Given the description of an element on the screen output the (x, y) to click on. 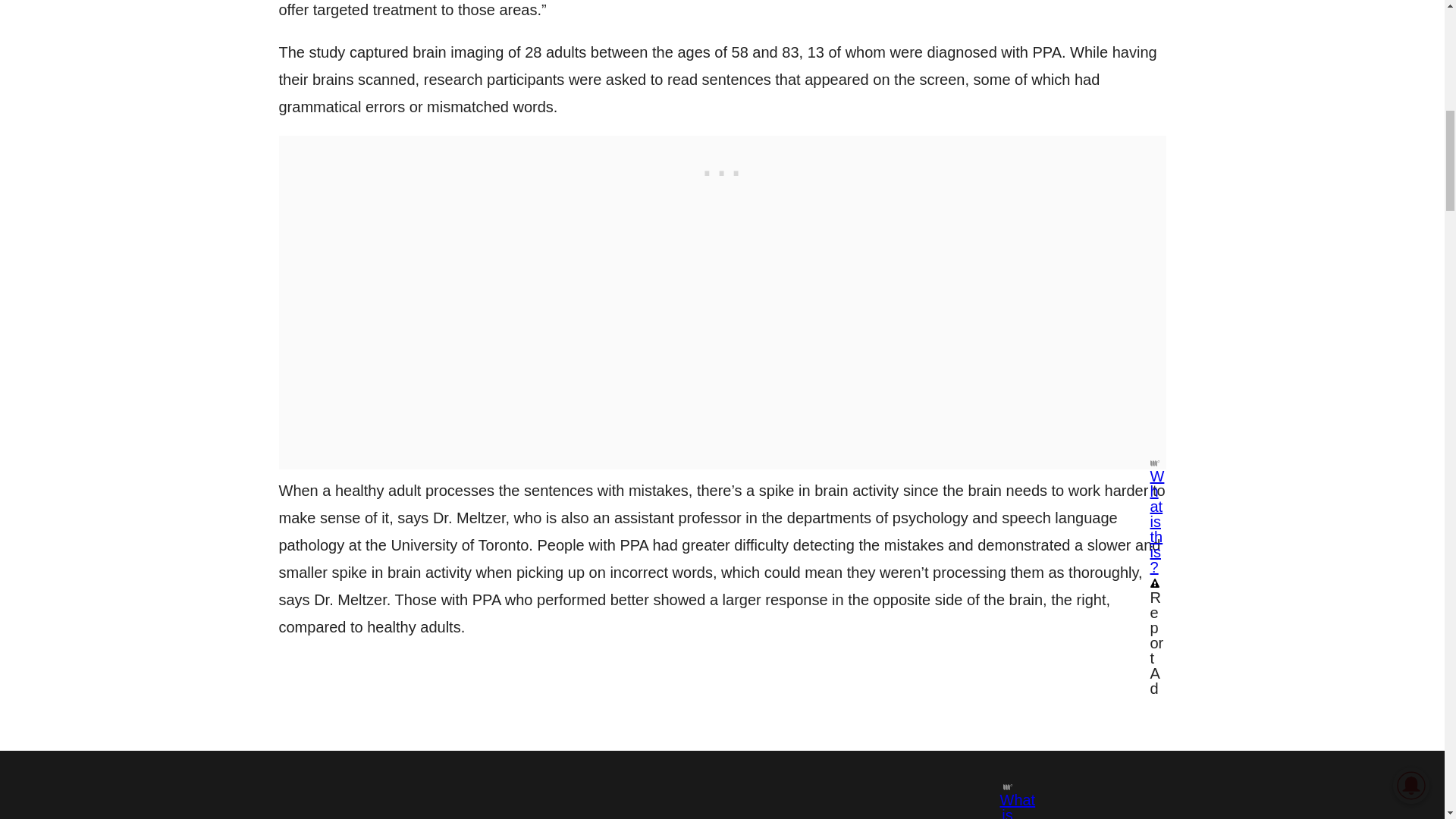
3rd party ad content (721, 169)
